Given the description of an element on the screen output the (x, y) to click on. 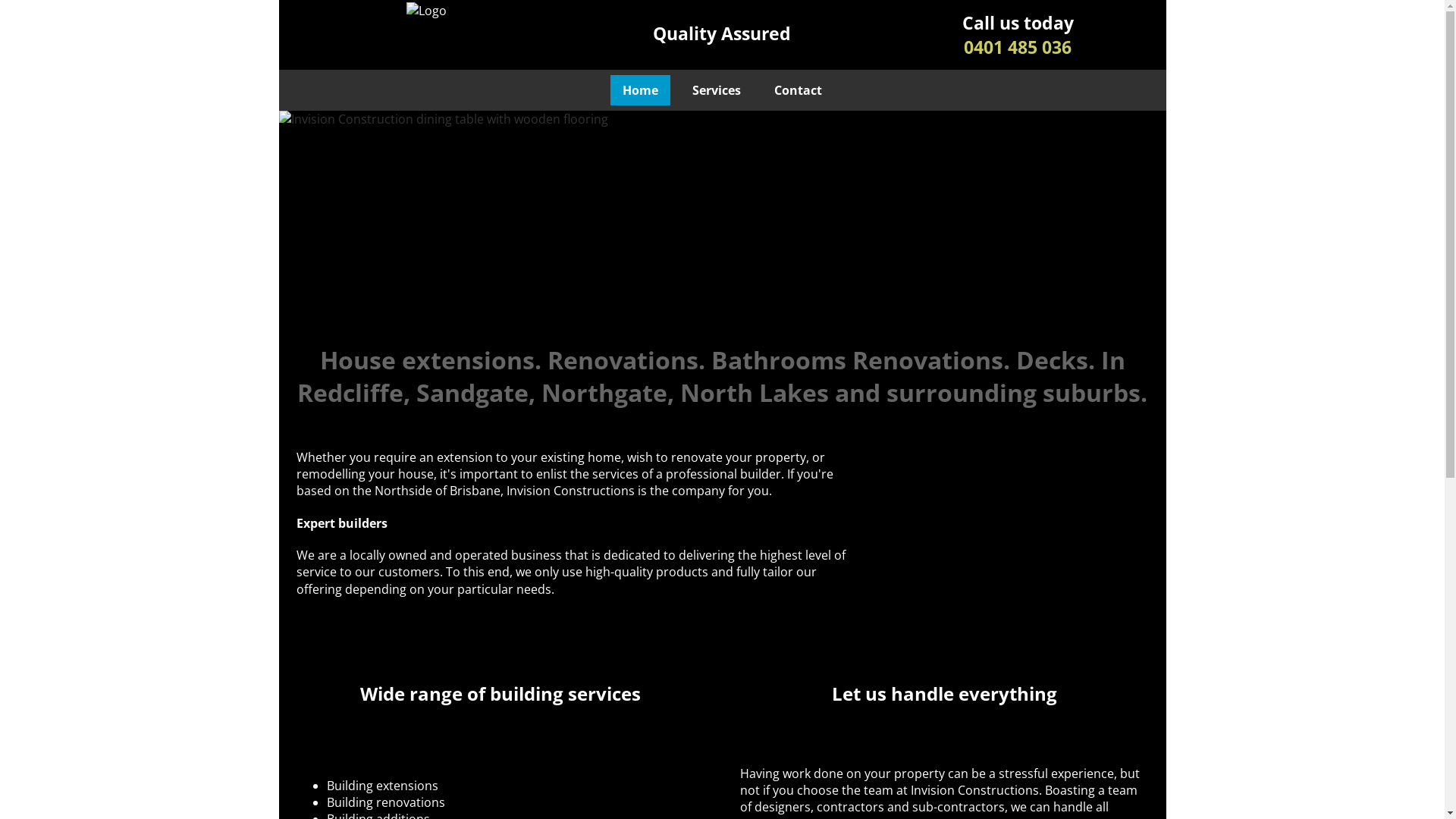
Logo Element type: hover (426, 11)
Home Element type: text (640, 90)
0401 485 036 Element type: text (1018, 58)
Contact Element type: text (798, 90)
Invision Construction dining table with wooden flooring Element type: hover (722, 221)
Services Element type: text (715, 90)
